Given the description of an element on the screen output the (x, y) to click on. 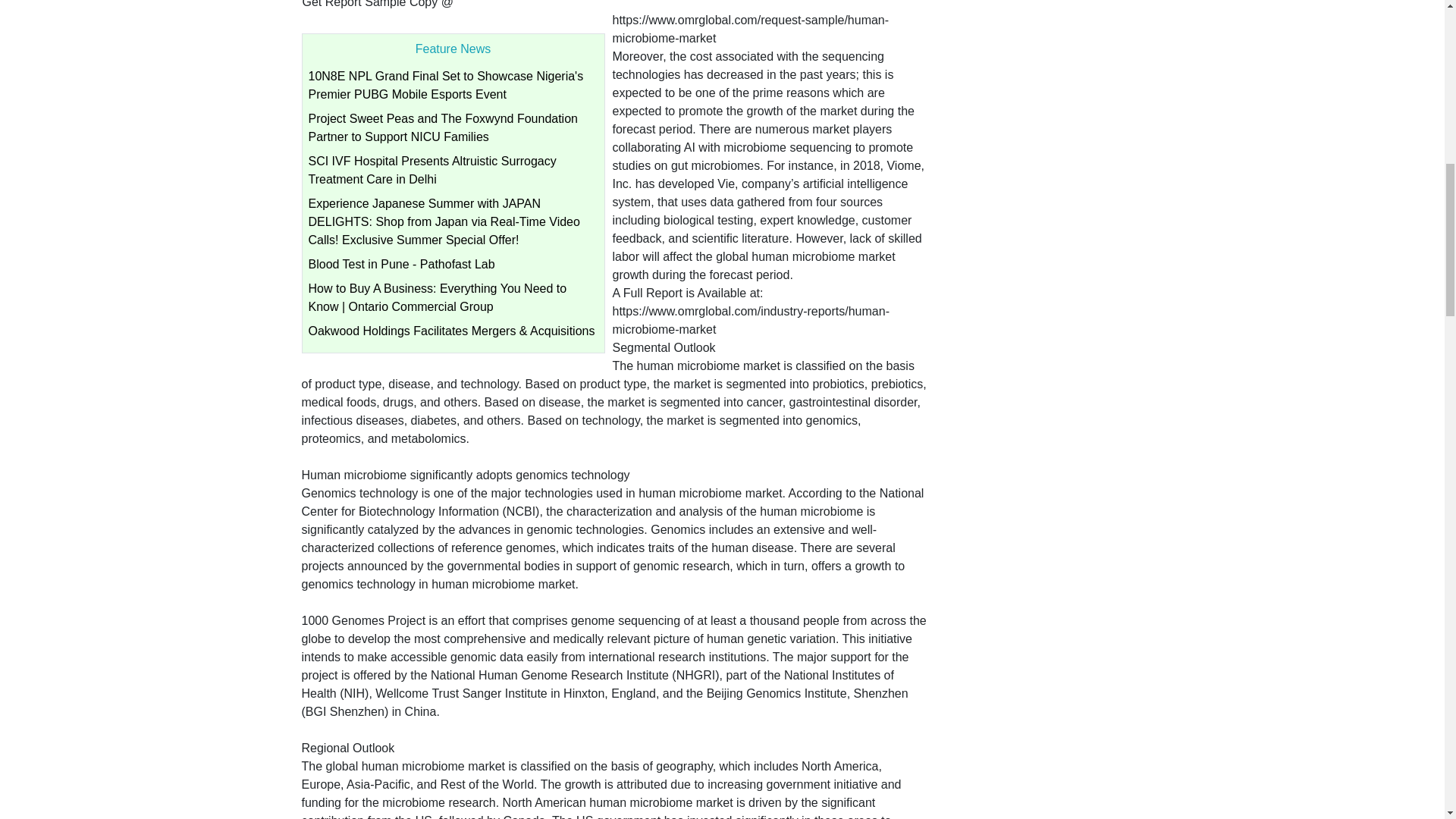
Blood Test in Pune - Pathofast Lab (401, 264)
